Given the description of an element on the screen output the (x, y) to click on. 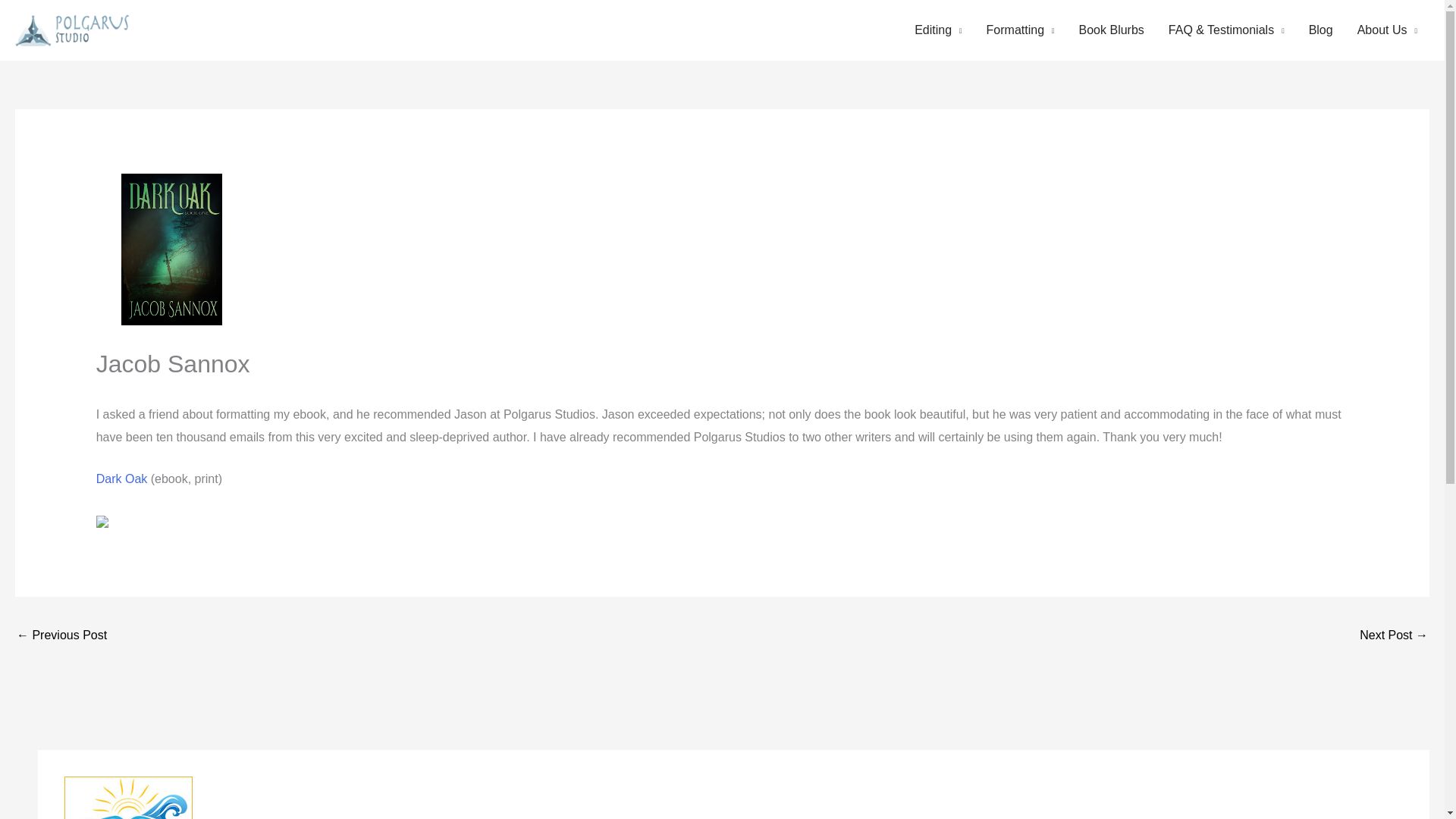
Editing (938, 30)
Nabilla Zahra Stelter (61, 636)
Formatting (1020, 30)
About Us (1387, 30)
Book Blurbs (1111, 30)
